Given the description of an element on the screen output the (x, y) to click on. 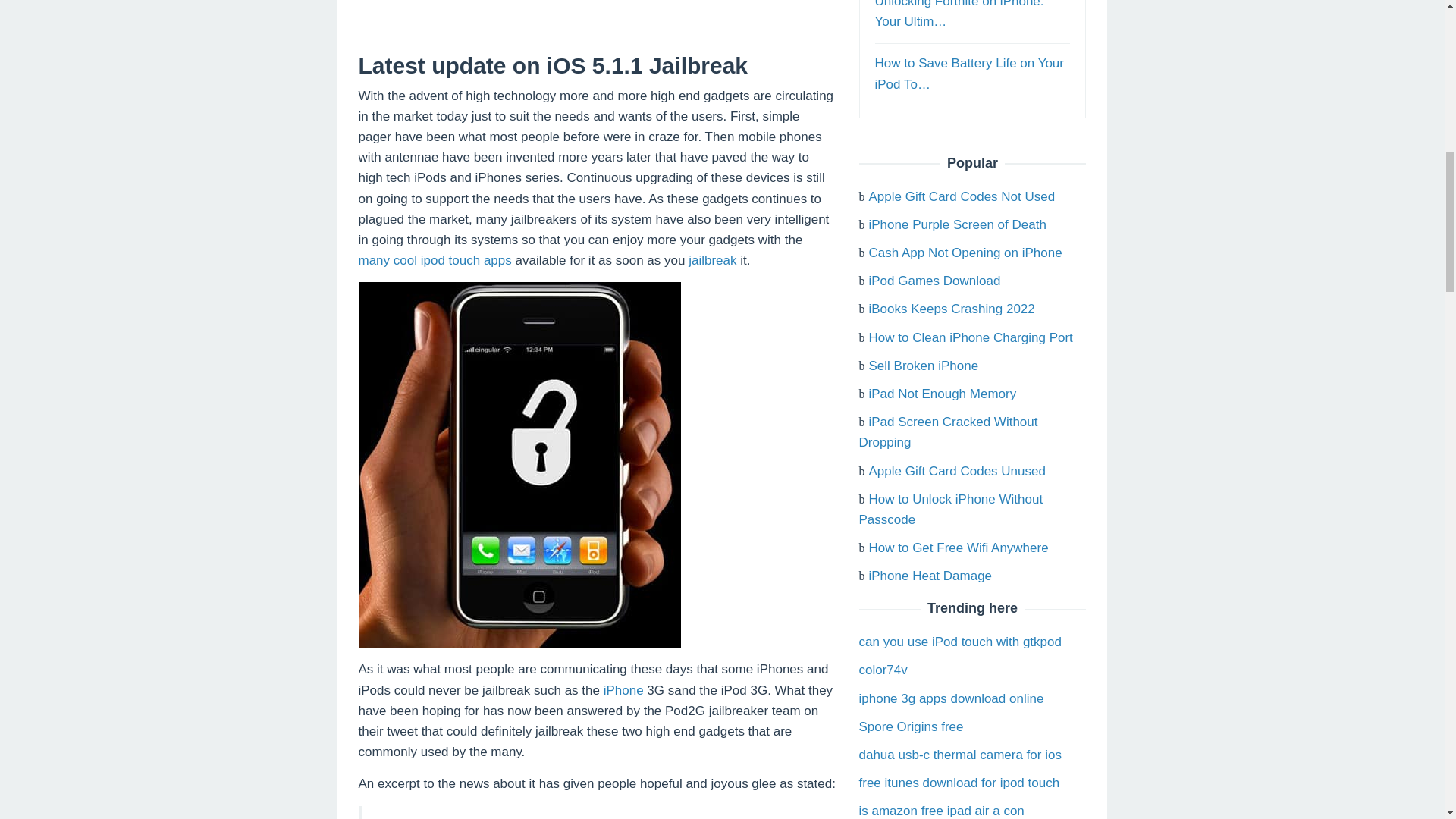
Permalink to: How to Save Battery Life on Your iPod Touch (969, 73)
jailbreak (712, 260)
can you use iPod touch with gtkpod (960, 641)
many cool ipod touch apps (434, 260)
iPhone (623, 690)
JailBreak (654, 818)
Advertisement (596, 26)
